Given the description of an element on the screen output the (x, y) to click on. 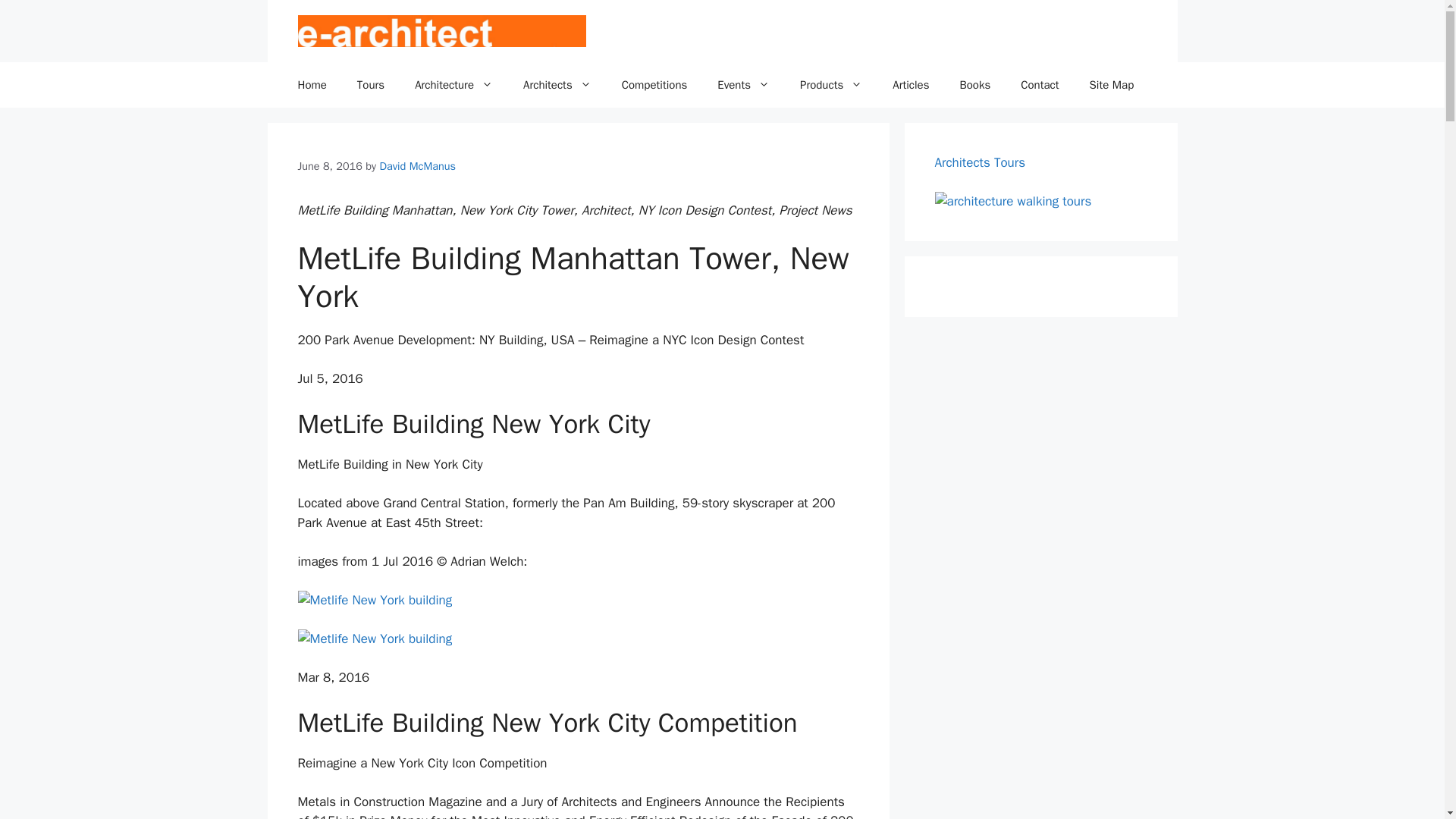
Architects (557, 84)
Competitions (655, 84)
Site Map (1112, 84)
Events (742, 84)
Articles (910, 84)
Home (311, 84)
Products (830, 84)
Home (311, 84)
David McManus (416, 165)
Contact (1040, 84)
Books (974, 84)
Tours (370, 84)
Architecture (453, 84)
View all posts by David McManus (416, 165)
